Given the description of an element on the screen output the (x, y) to click on. 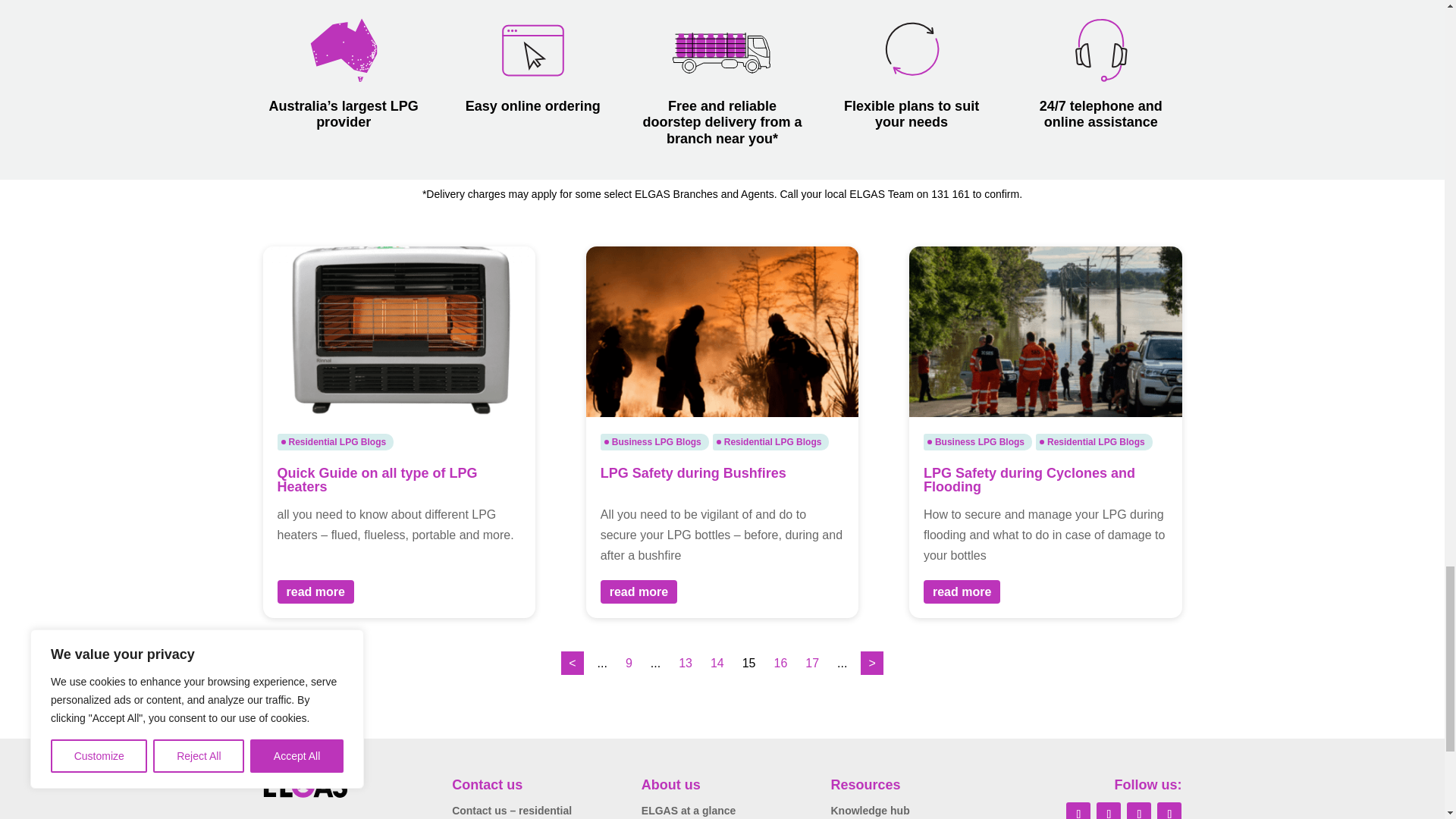
Page 16 (781, 662)
Page 14 (717, 662)
elgas-logo (304, 785)
Follow on Facebook (1077, 810)
Follow on Youtube (1168, 810)
Follow on LinkedIn (1108, 810)
Page 17 (812, 662)
Follow on Instagram (1138, 810)
Page 13 (685, 662)
